Given the description of an element on the screen output the (x, y) to click on. 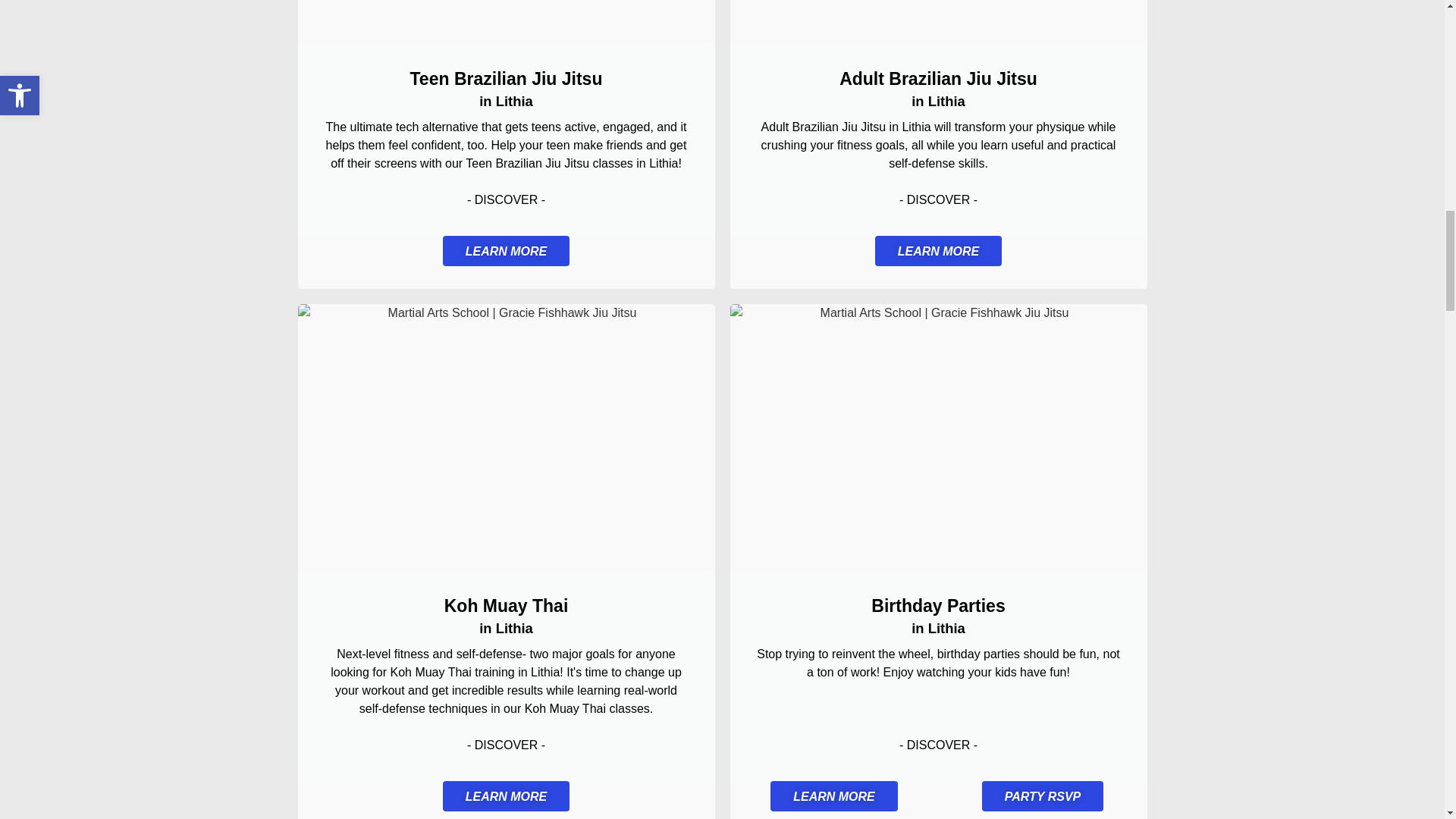
LEARN MORE (506, 796)
LEARN MORE (939, 250)
LEARN MORE (506, 250)
PARTY RSVP (1042, 796)
LEARN MORE (834, 796)
